Given the description of an element on the screen output the (x, y) to click on. 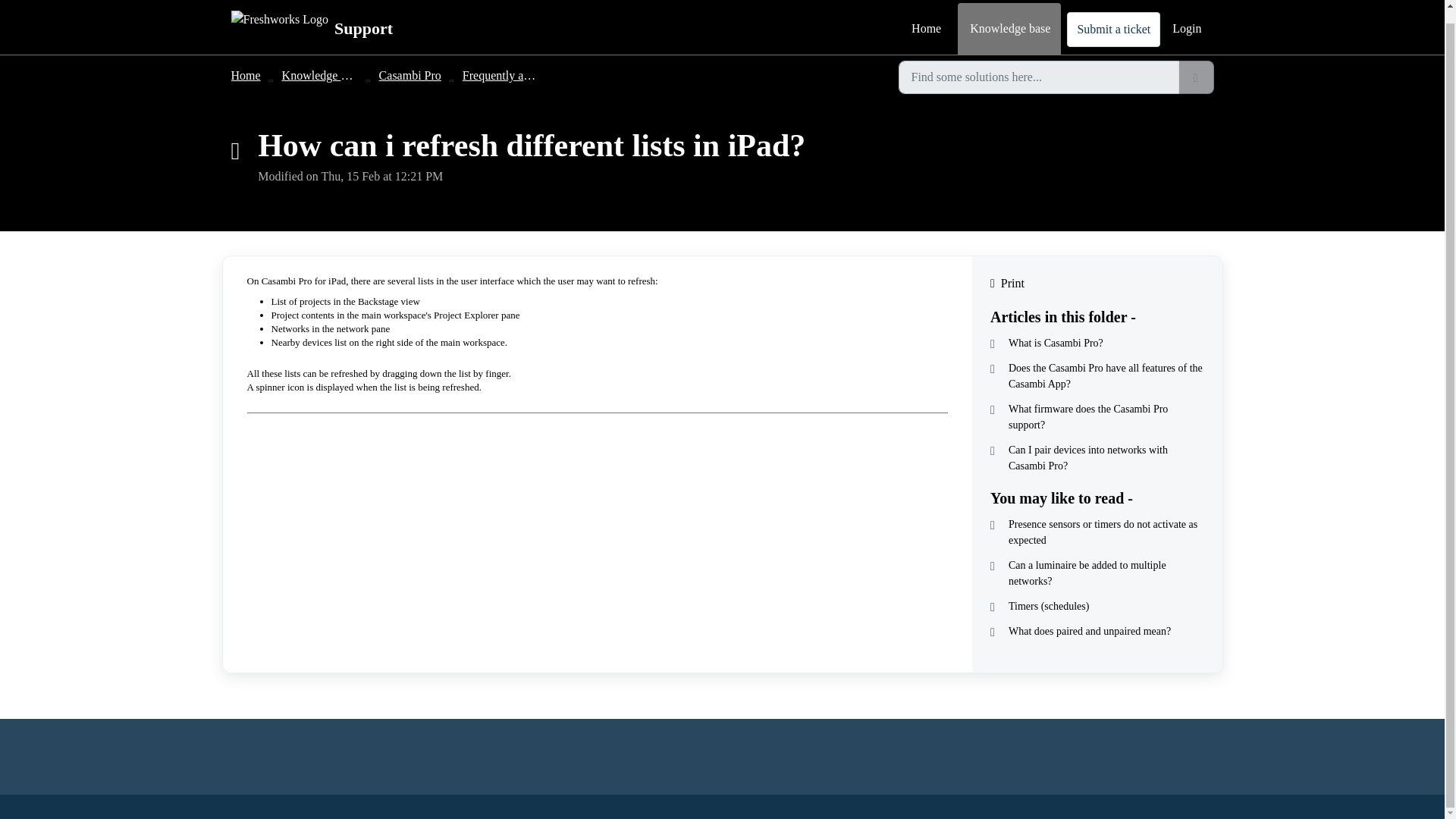
Can a luminaire be added to multiple networks? (1097, 572)
Knowledge base (1009, 20)
What is Casambi Pro? (1097, 342)
Print (1097, 283)
What does paired and unpaired mean? (1097, 631)
Support (310, 17)
Knowledge base (322, 62)
Submit a ticket (1113, 17)
Can I pair devices into networks with Casambi Pro? (1097, 458)
Home (245, 62)
